Given the description of an element on the screen output the (x, y) to click on. 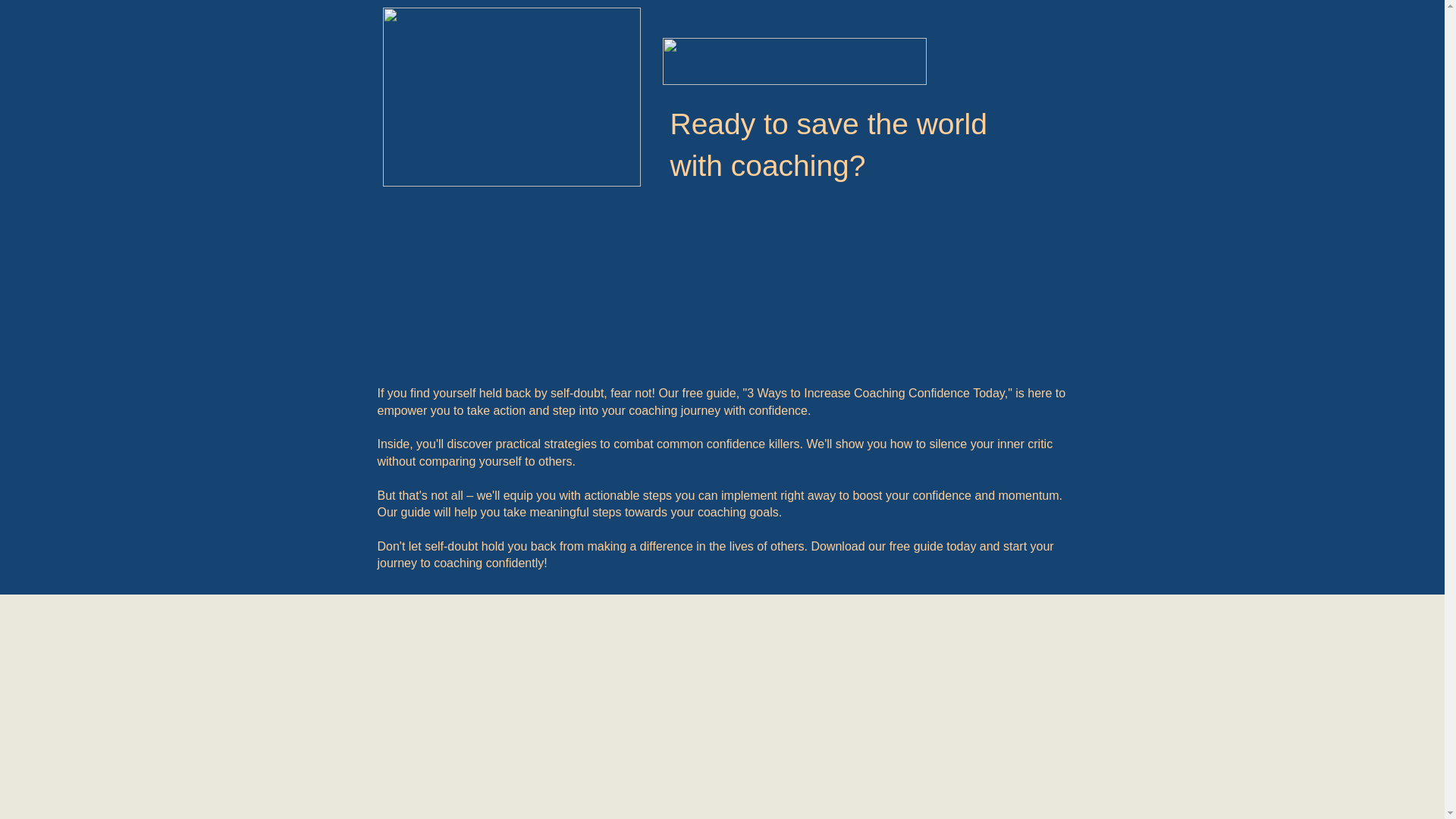
3.png (794, 61)
